Given the description of an element on the screen output the (x, y) to click on. 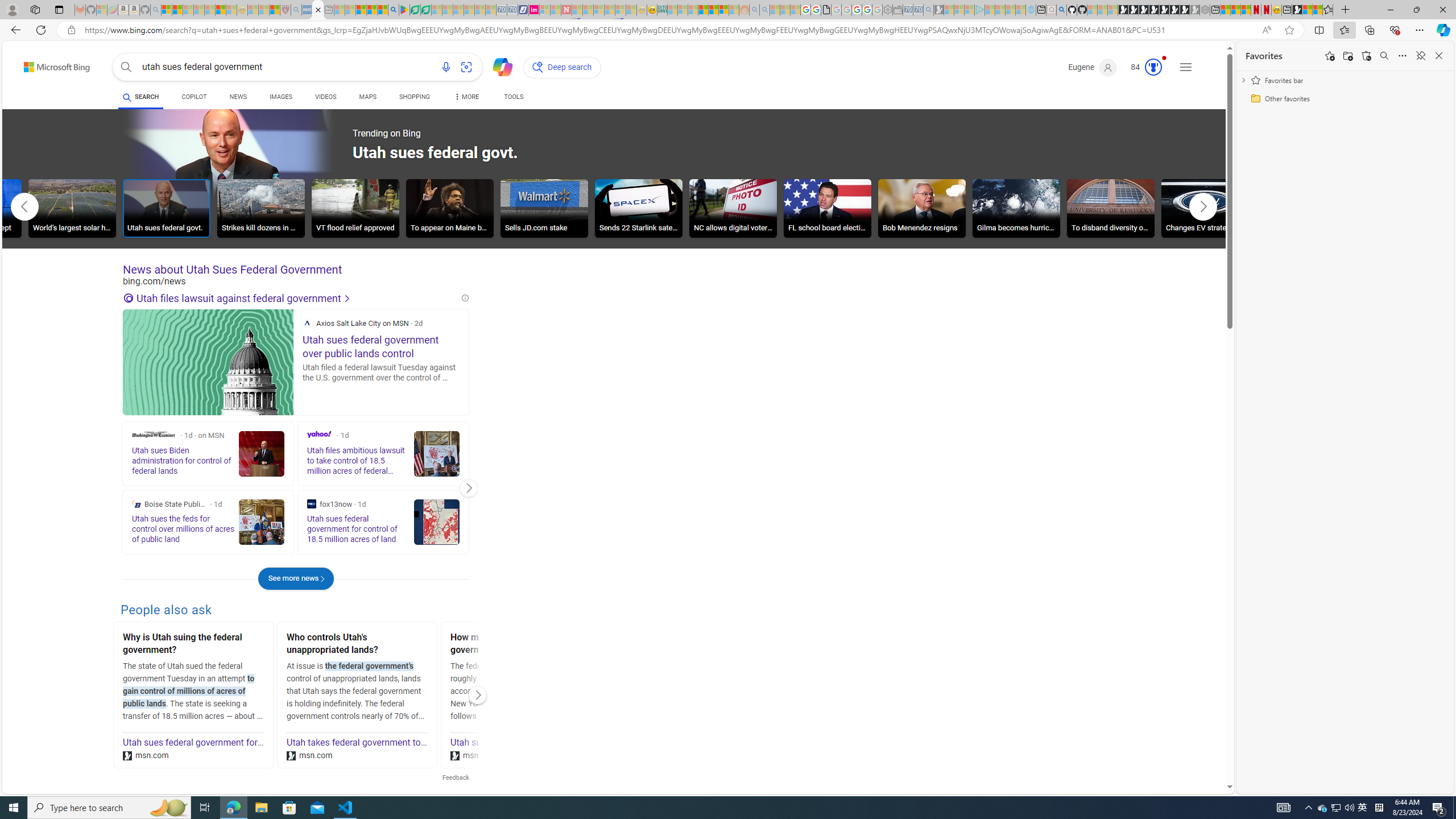
To disband diversity office (1110, 209)
Utah sues Biden administration for control of federal lands (567, 742)
News about Utah Sues Federal Government (295, 269)
Bluey: Let's Play! - Apps on Google Play (404, 9)
Expert Portfolios (703, 9)
Microsoft Word - consumer-privacy address update 2.2021 (426, 9)
Close favorites (1439, 55)
NEWS (237, 96)
